Given the description of an element on the screen output the (x, y) to click on. 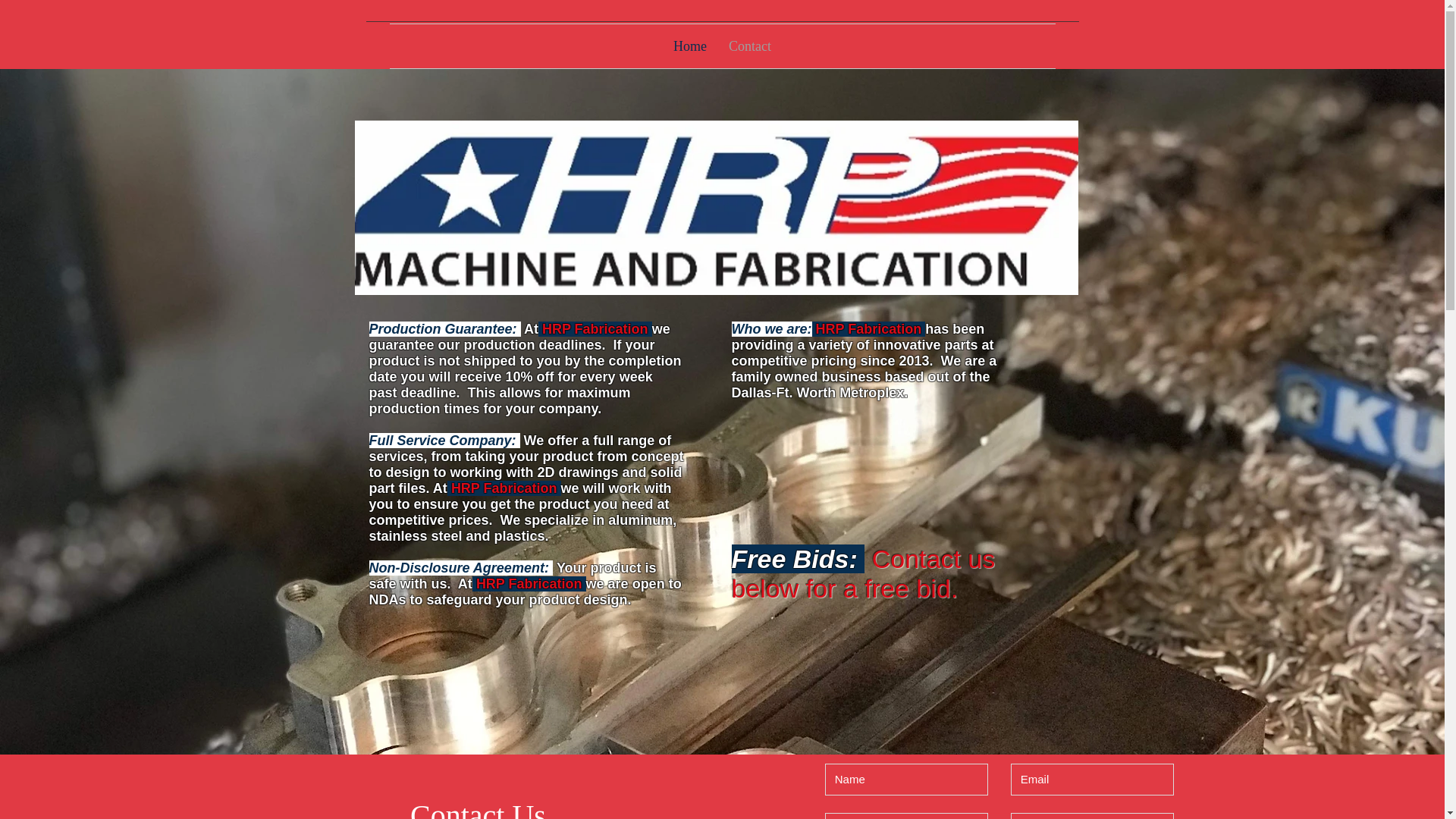
Contact (750, 45)
Home (689, 45)
